Given the description of an element on the screen output the (x, y) to click on. 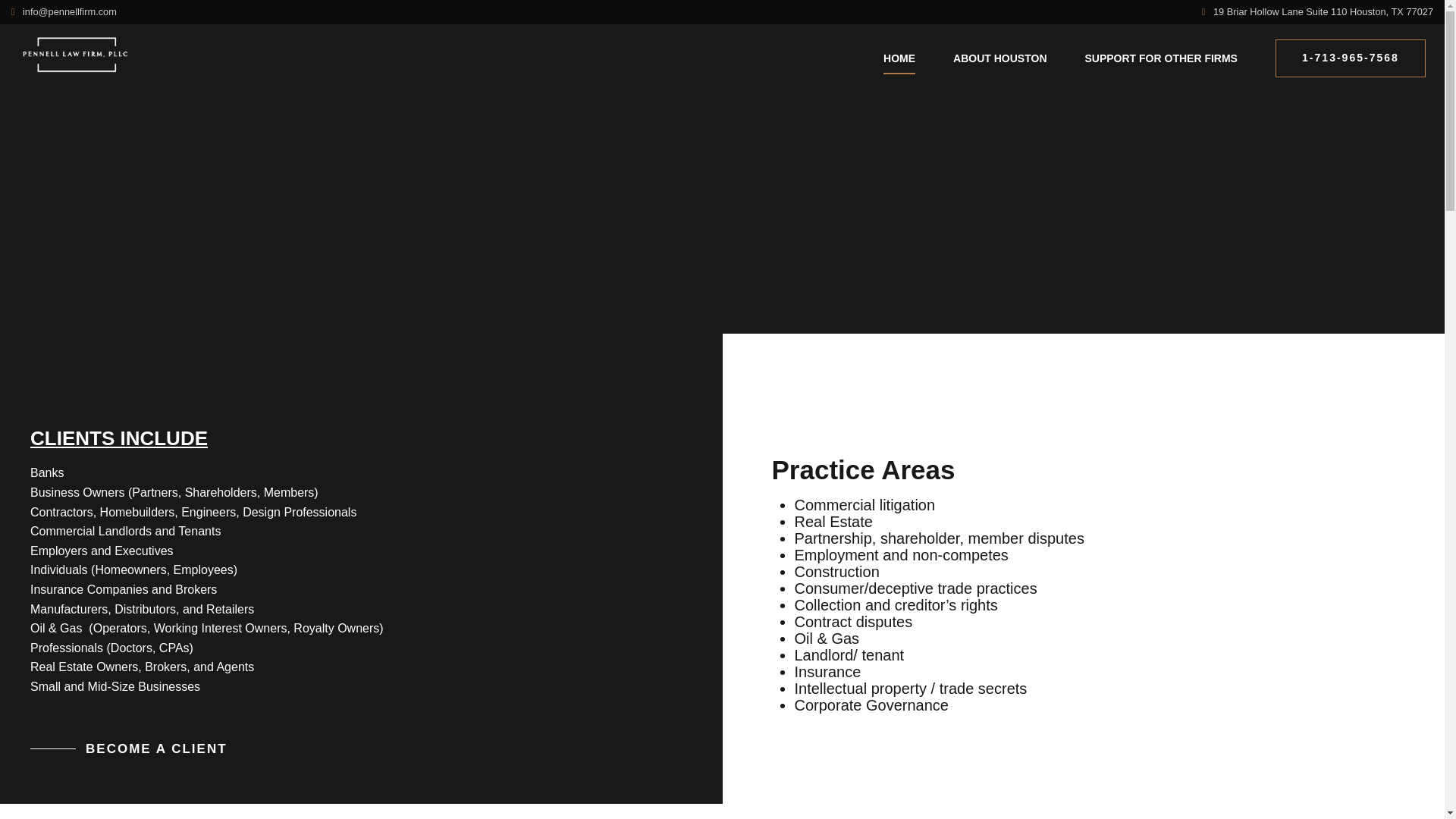
BECOME A CLIENT (128, 748)
1-713-965-7568 (1350, 57)
ABOUT HOUSTON (999, 58)
BECOME A CLIENT (128, 748)
SUPPORT FOR OTHER FIRMS (1160, 58)
